Given the description of an element on the screen output the (x, y) to click on. 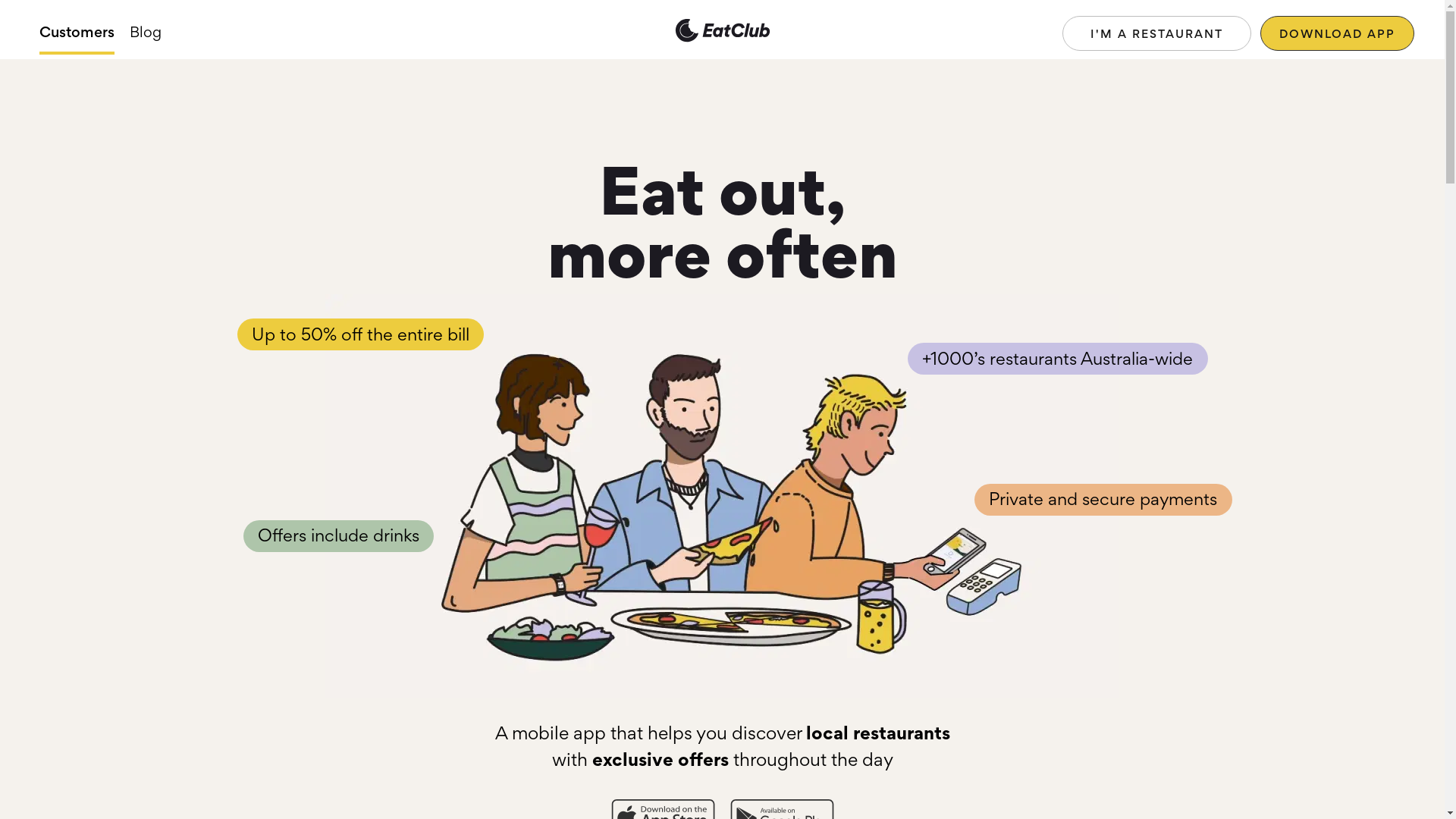
DOWNLOAD APP Element type: text (1337, 32)
Customers Element type: text (76, 33)
Blog Element type: text (145, 33)
I'M A RESTAURANT Element type: text (1156, 32)
